Given the description of an element on the screen output the (x, y) to click on. 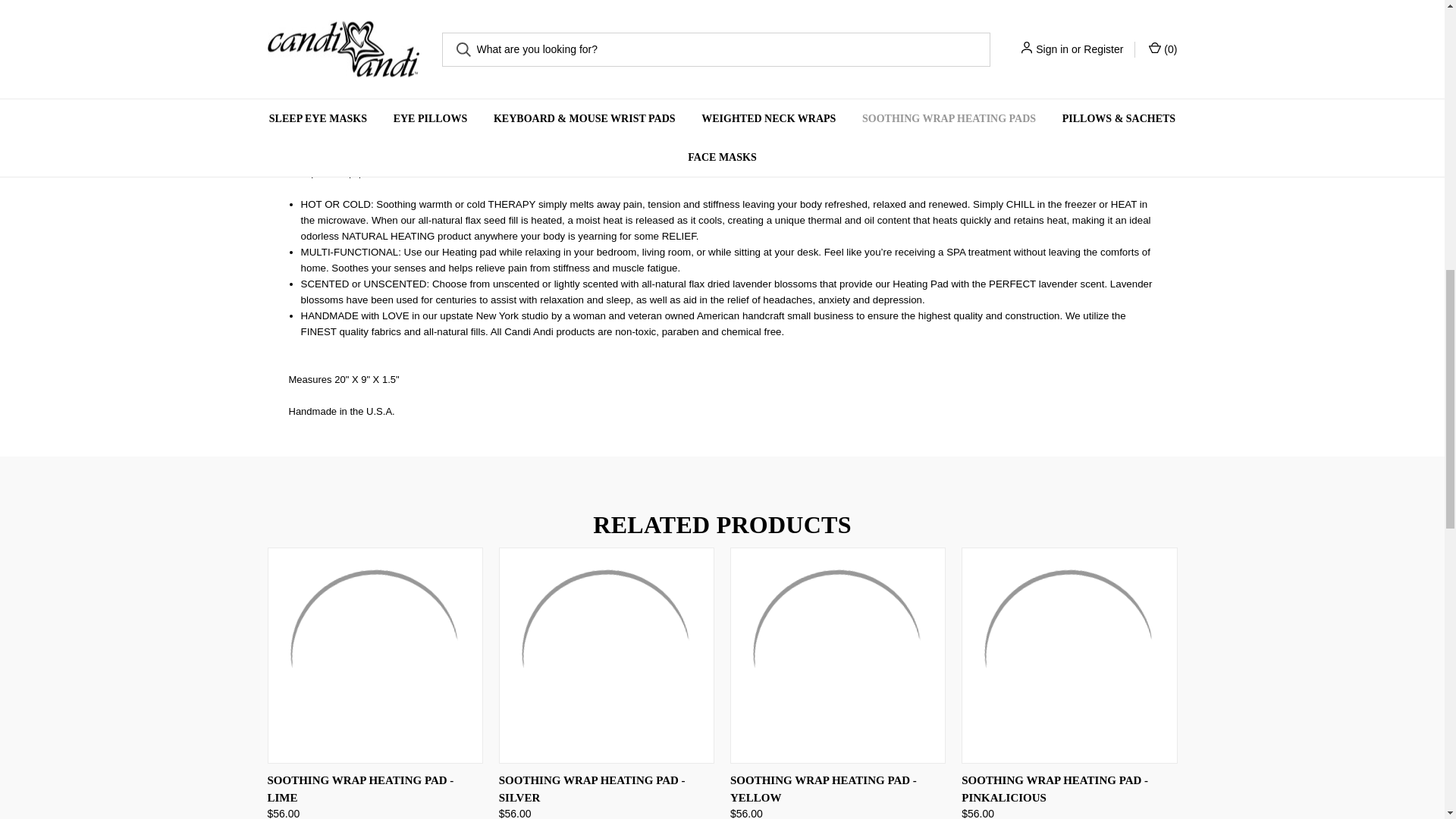
Soothing Wrap Heating Pad - Pinkalicious (1068, 655)
Soothing Wrap Heating Pad - Hot Pink (427, 9)
Soothing Wrap Heating Pad - Hot Pink (320, 3)
Soothing Wrap Heating Pad - Yellow (837, 655)
Soothing Wrap Heating Pad - Hot Pink (534, 6)
Soothing Wrap Heating Pad - Lime (374, 655)
Soothing Wrap Heating Pad - Hot Pink (748, 8)
Soothing Wrap Heating Pad - Hot Pink (640, 6)
Soothing Wrap Heating Pad - Silver (606, 655)
